Given the description of an element on the screen output the (x, y) to click on. 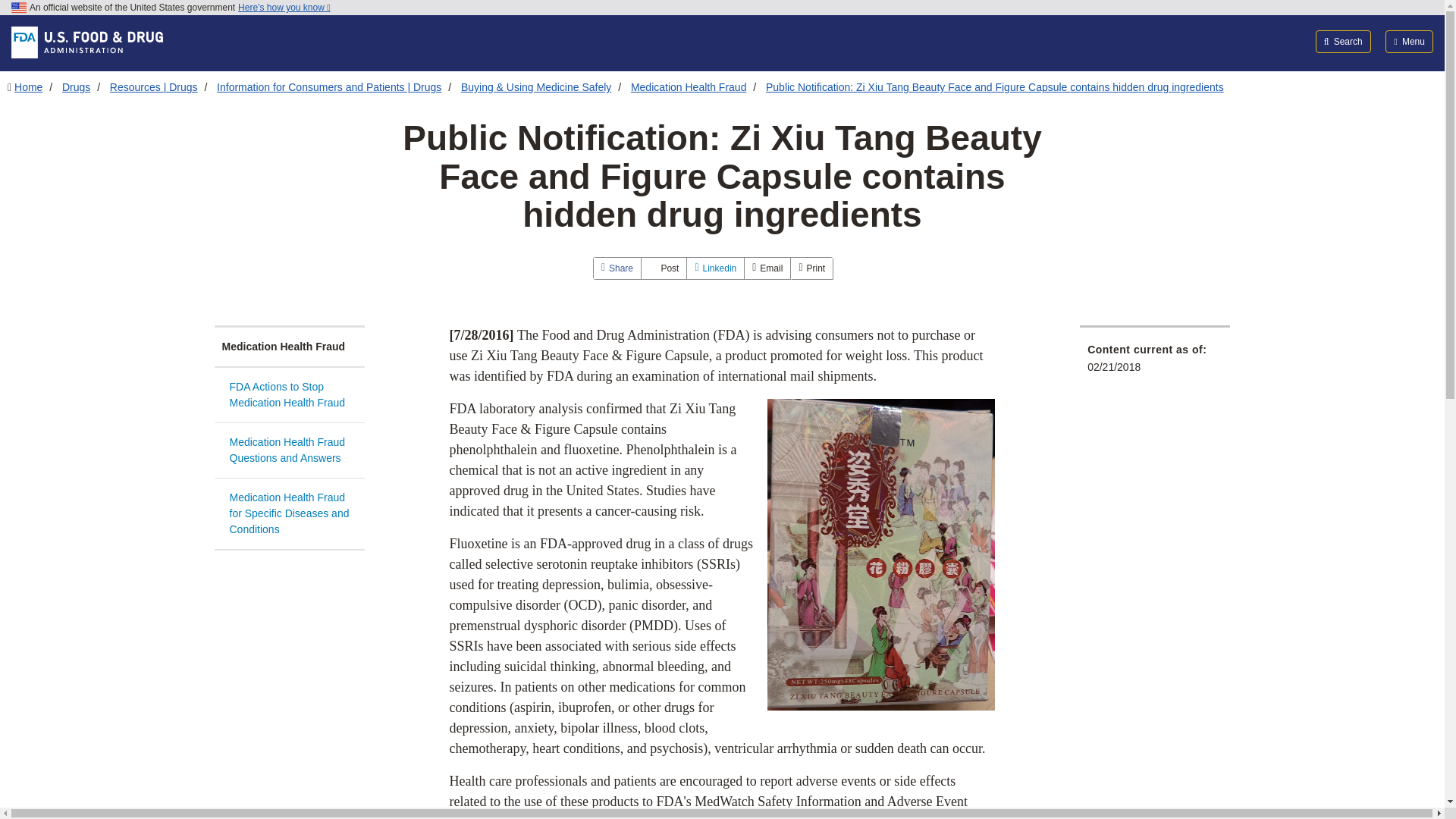
  Menu (1409, 41)
Print this page (811, 268)
  Search (1343, 41)
